Given the description of an element on the screen output the (x, y) to click on. 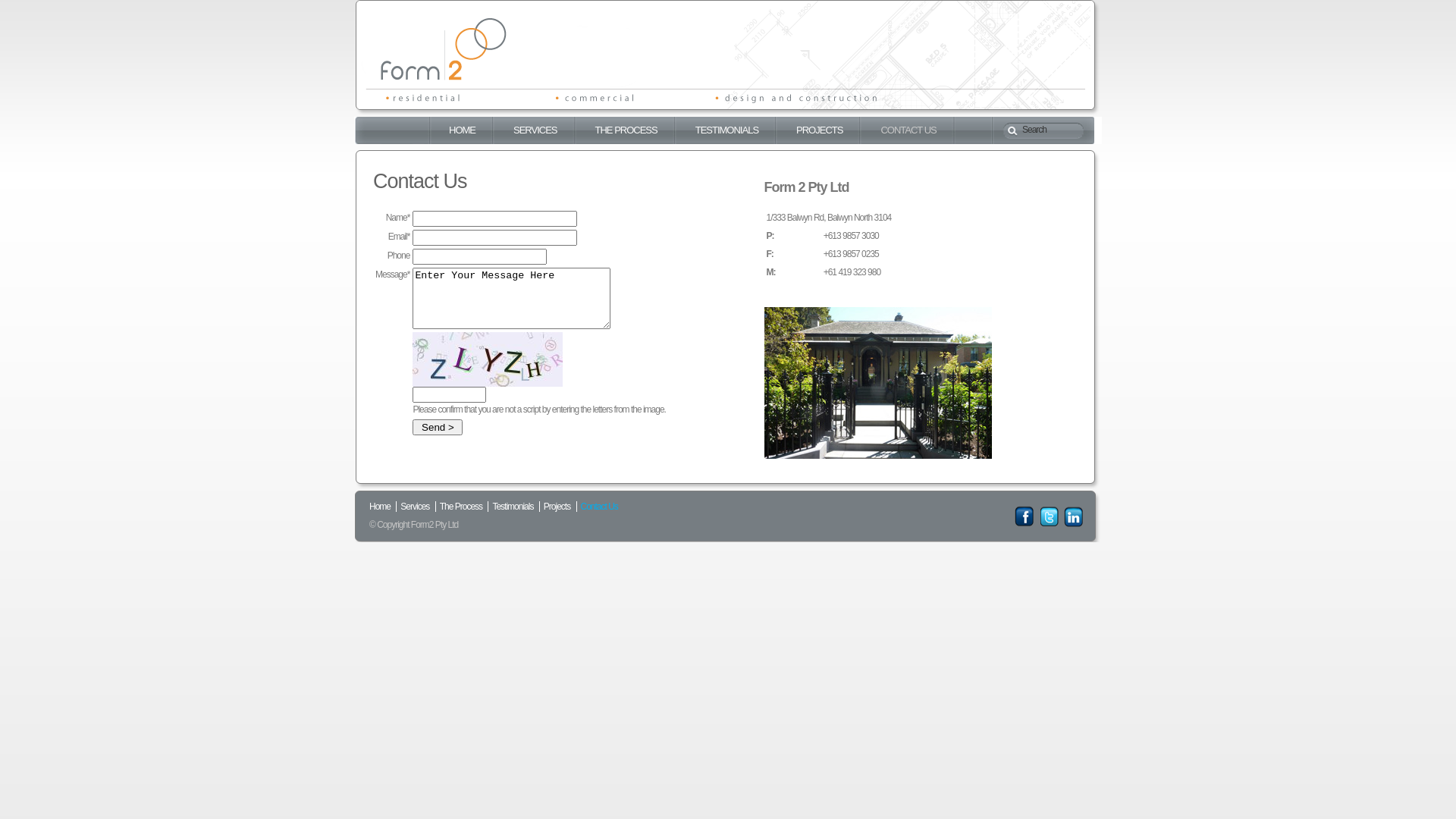
 Send >  Element type: text (437, 426)
Testimonials Element type: text (512, 505)
PROJECTS Element type: text (819, 130)
SERVICES Element type: text (535, 130)
The Process Element type: text (460, 505)
Contact Us Element type: text (599, 505)
TESTIMONIALS Element type: text (726, 130)
Home Element type: text (379, 505)
Services Element type: text (414, 505)
THE PROCESS Element type: text (626, 130)
HOME Element type: text (461, 130)
Projects Element type: text (556, 505)
CONTACT US Element type: text (907, 130)
